Given the description of an element on the screen output the (x, y) to click on. 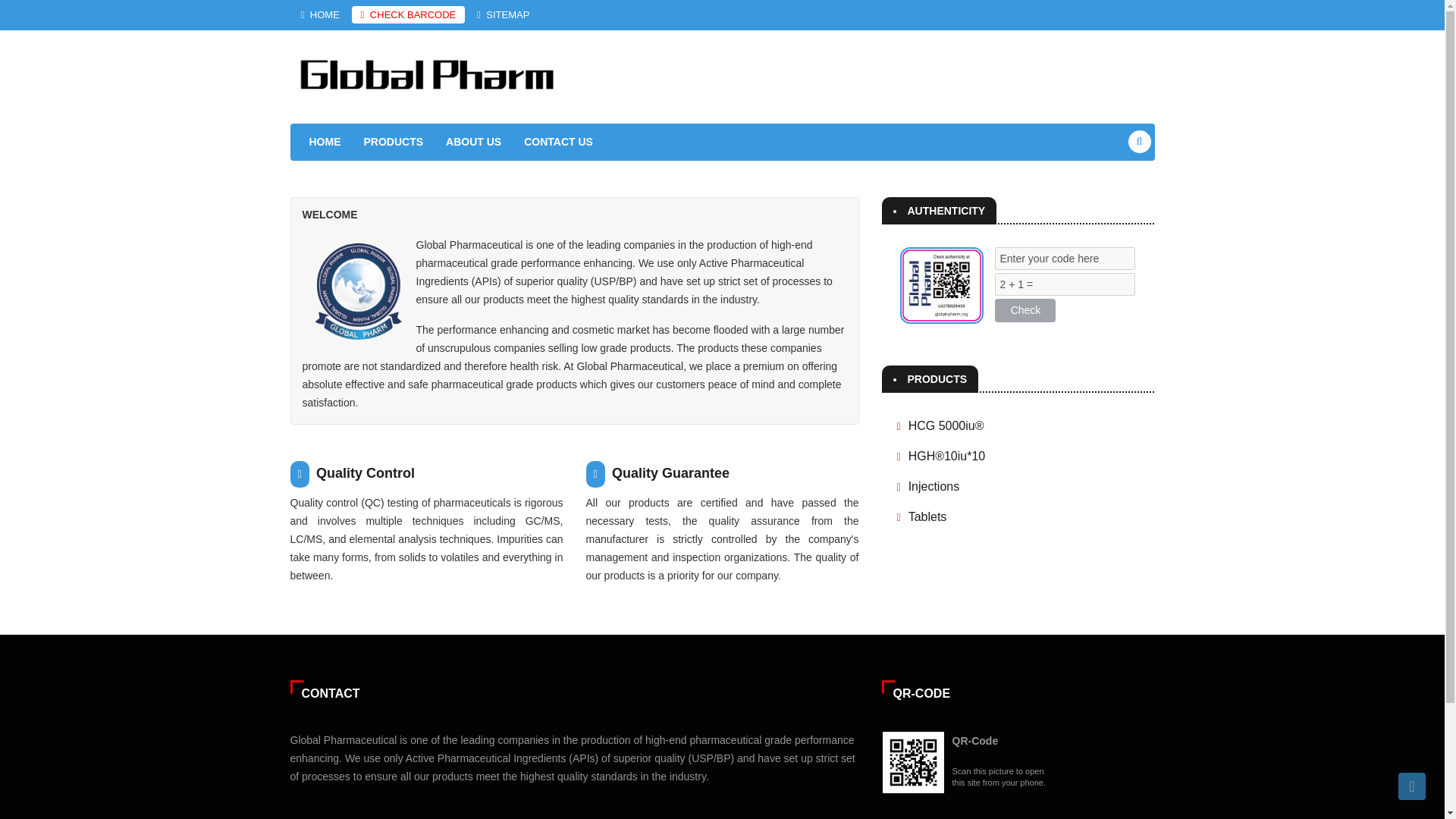
HOME (324, 141)
HOME (319, 14)
CONTACT US (558, 141)
PRODUCTS (392, 141)
ABOUT US (472, 141)
Check (1024, 310)
SITEMAP (502, 14)
Global Pharm (425, 74)
Enter your code here (1064, 258)
Injections (933, 485)
CHECK BARCODE (408, 14)
Back to Top (1411, 786)
Tablets (927, 515)
